Given the description of an element on the screen output the (x, y) to click on. 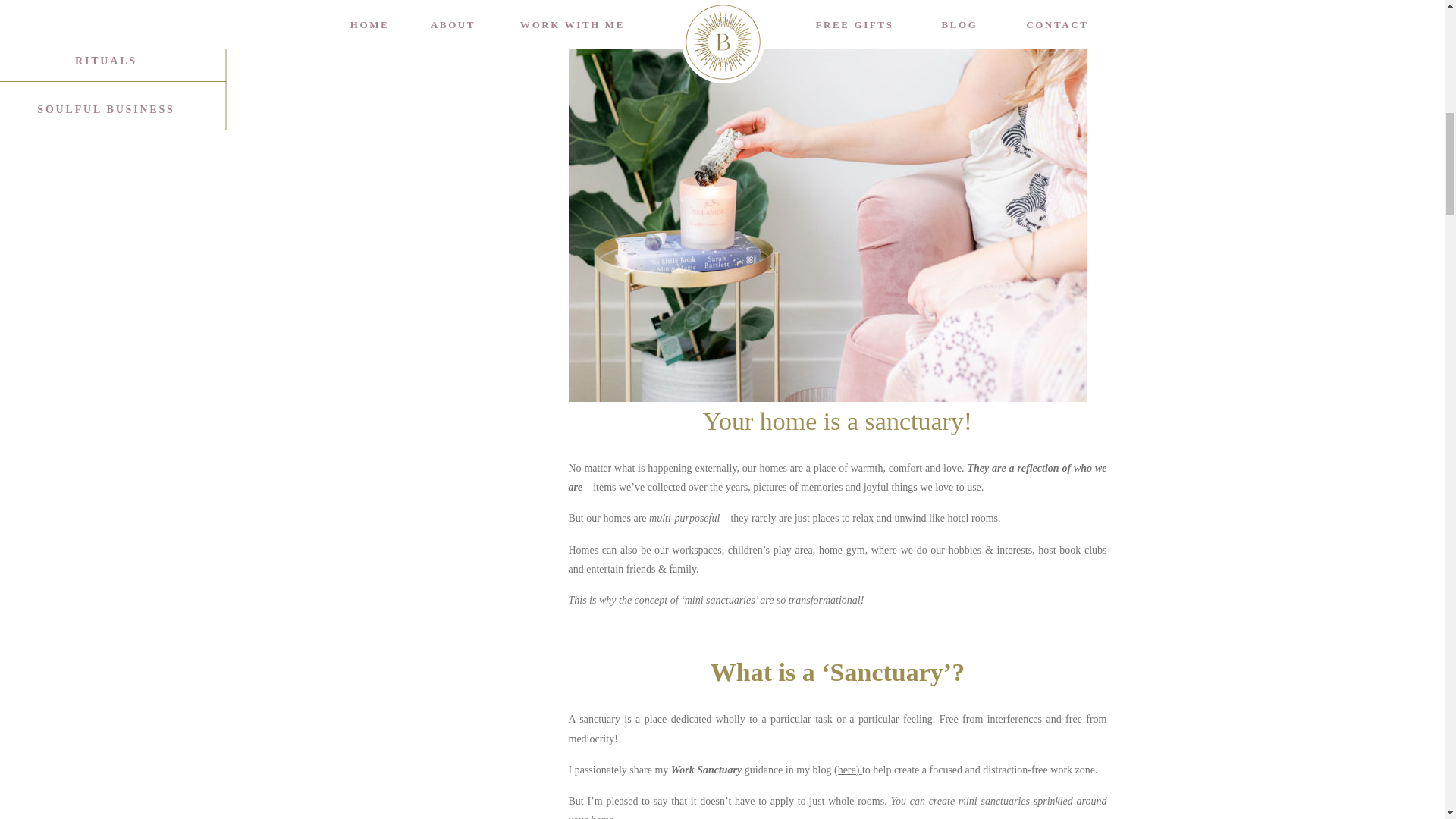
SOULFUL BUSINESS (105, 106)
MINDSET (105, 10)
RITUALS (105, 58)
